Given the description of an element on the screen output the (x, y) to click on. 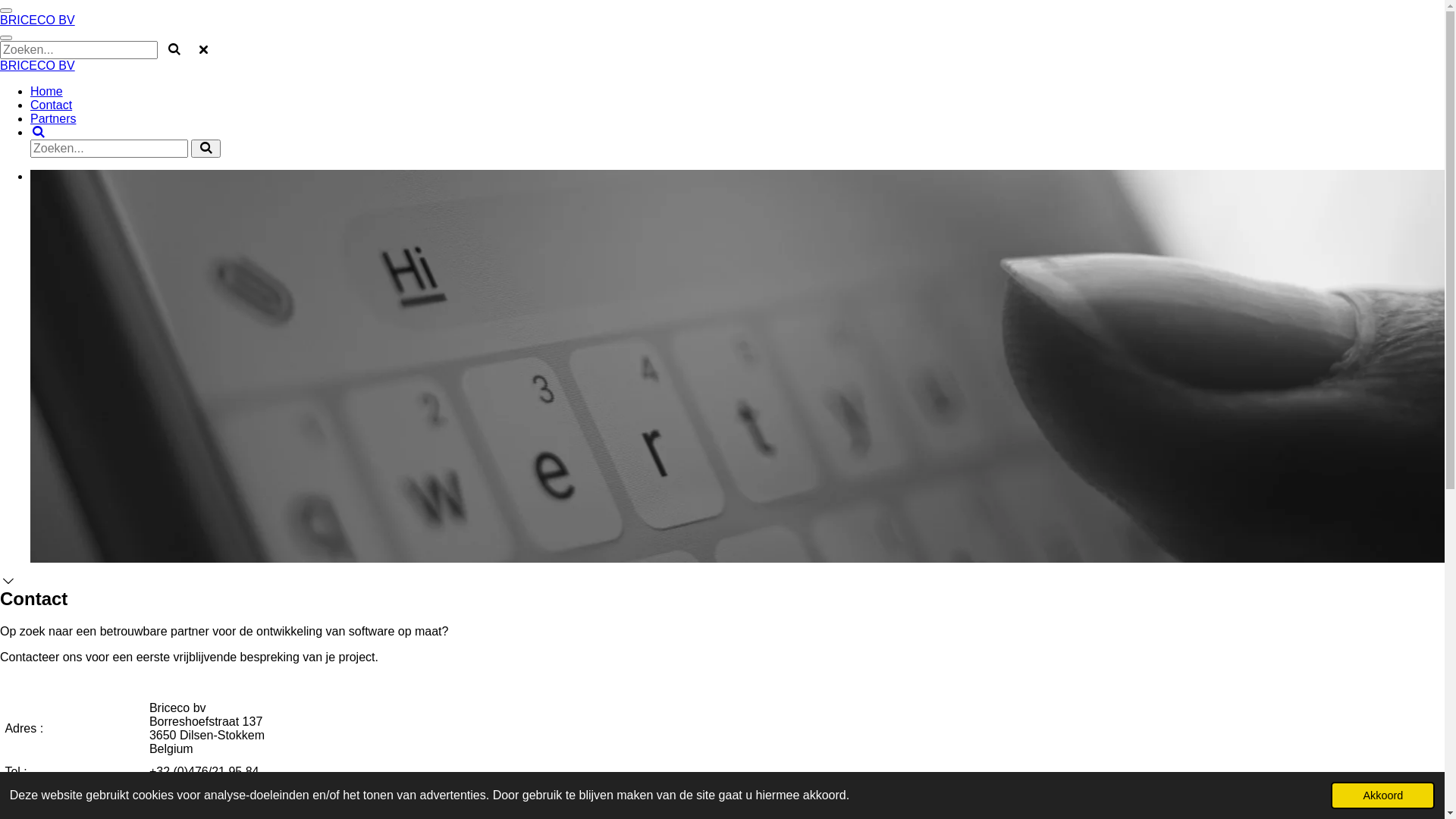
Partners Element type: text (52, 118)
Zoeken Element type: hover (38, 131)
Home Element type: text (46, 90)
Akkoord Element type: text (1382, 795)
BRICECO BV Element type: text (37, 19)
Contact Element type: text (51, 104)
BRICECO BV Element type: text (37, 65)
